Given the description of an element on the screen output the (x, y) to click on. 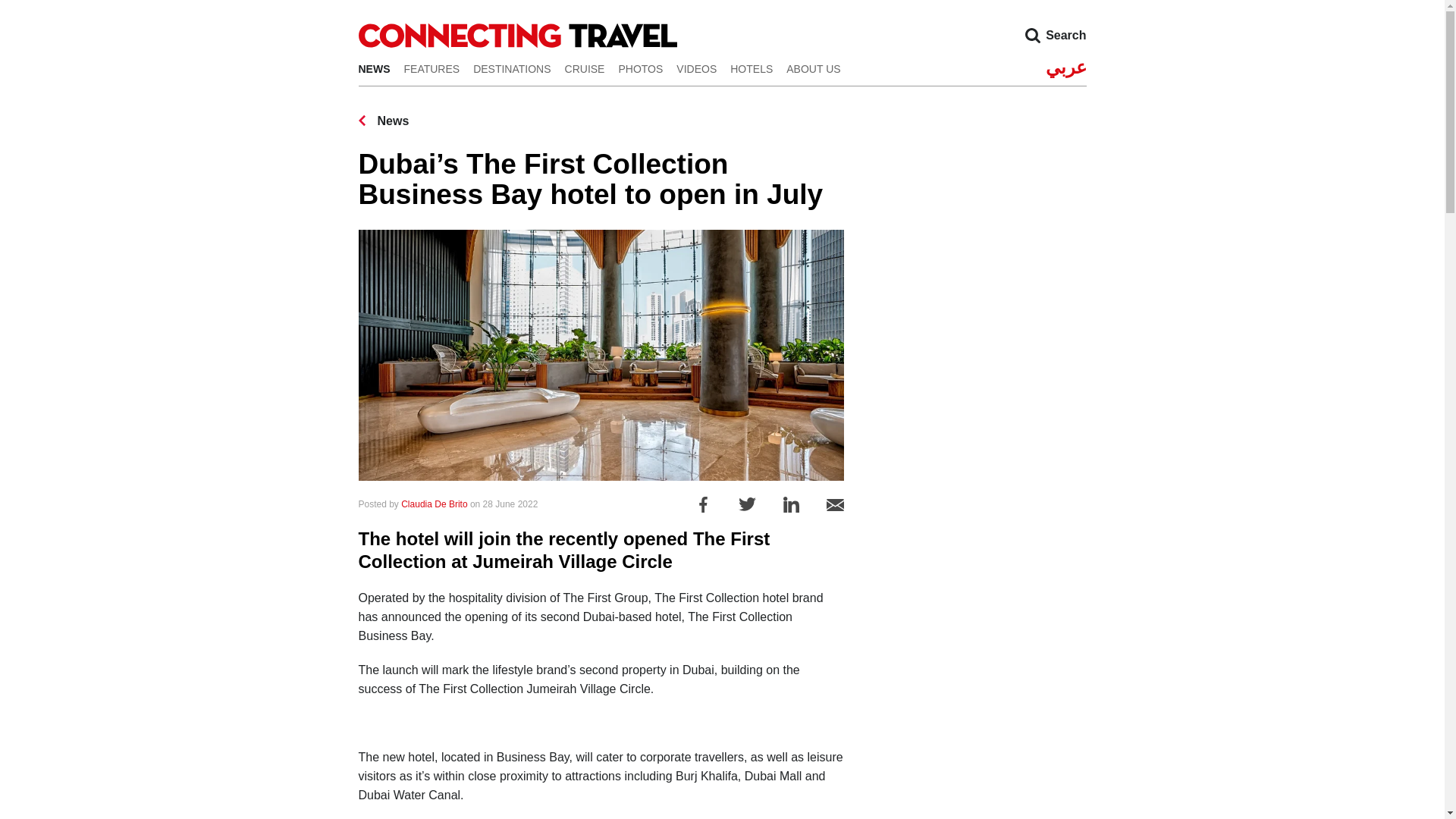
CRUISE (584, 68)
Share on LinkedIn (791, 503)
ABOUT US (813, 68)
Share on Twitter (746, 504)
News (383, 121)
Search (1032, 35)
DESTINATIONS (511, 68)
FEATURES (431, 68)
Share by email (835, 504)
